Given the description of an element on the screen output the (x, y) to click on. 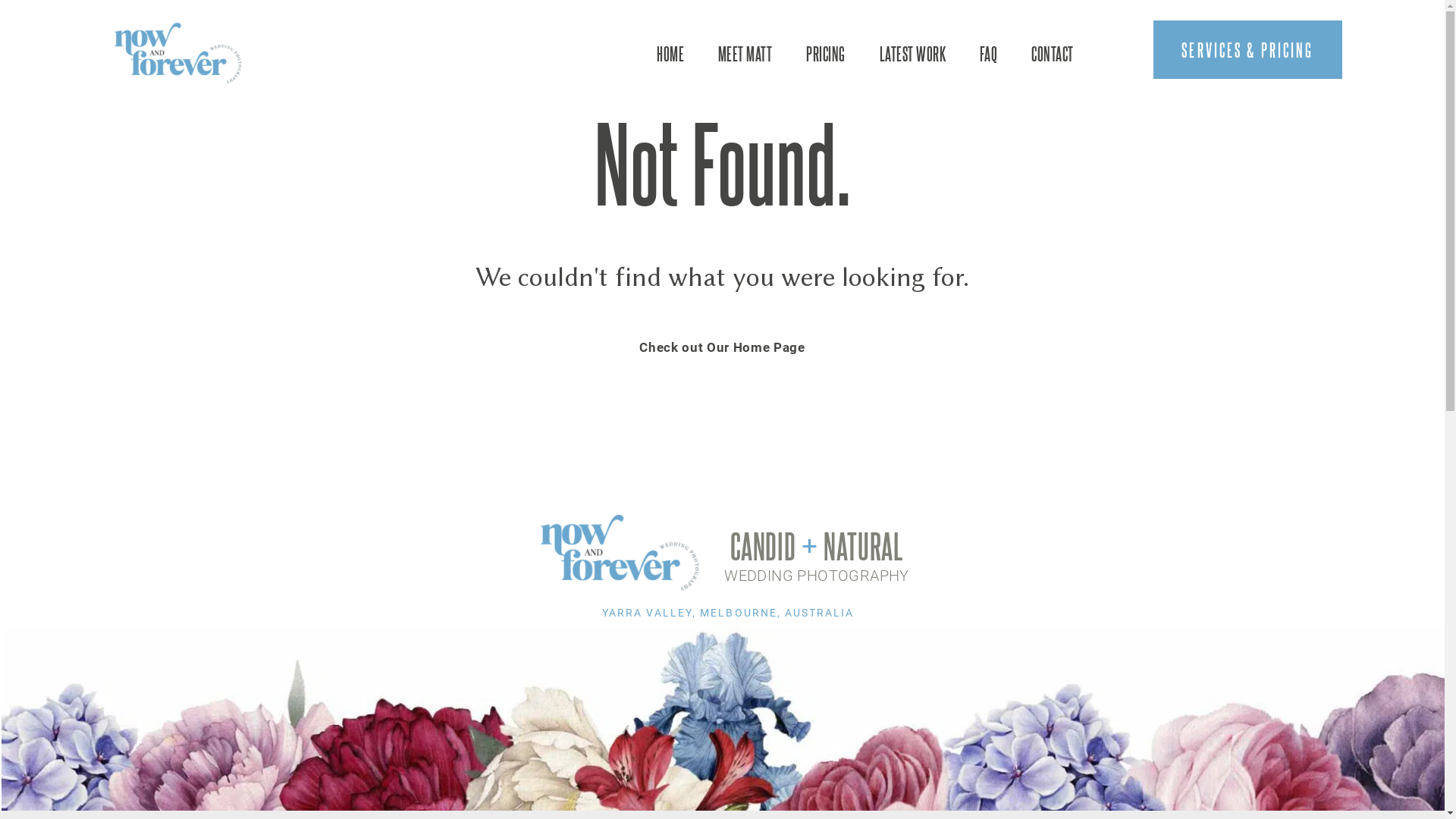
LATEST WORK Element type: text (912, 53)
Check out Our Home Page Element type: text (721, 347)
MEET MATT Element type: text (744, 53)
HOME Element type: text (670, 53)
SERVICES & PRICING Element type: text (1247, 49)
FAQ Element type: text (988, 53)
PRICING Element type: text (825, 53)
CONTACT Element type: text (1052, 53)
